Given the description of an element on the screen output the (x, y) to click on. 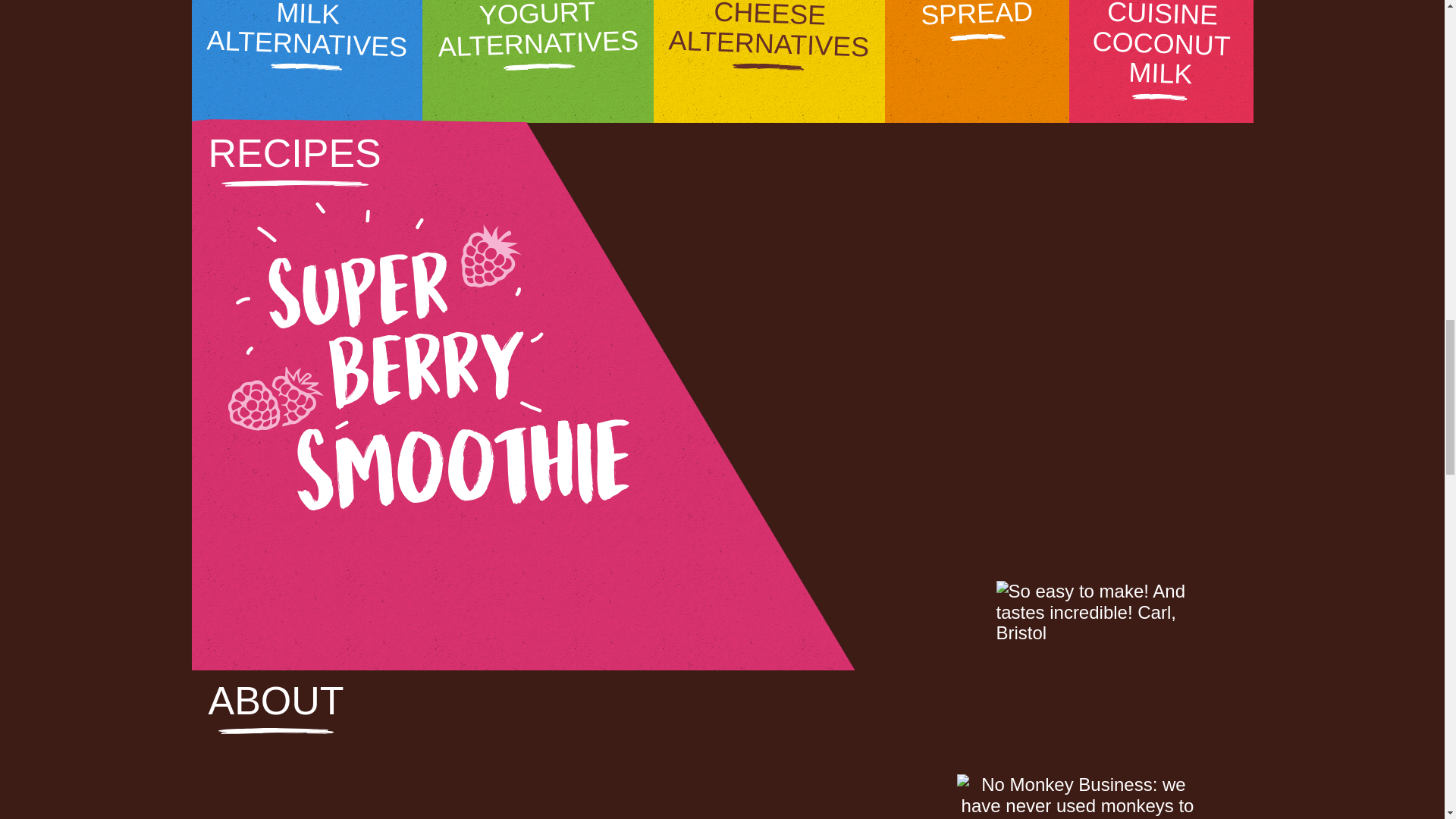
CHEESE ALTERNATIVES (769, 61)
SEE OUR RECIPES (429, 562)
YOGURT ALTERNATIVES (537, 61)
SPREAD (976, 61)
CUISINE COCONUT MILK (1160, 61)
MILK ALTERNATIVES (306, 61)
